Given the description of an element on the screen output the (x, y) to click on. 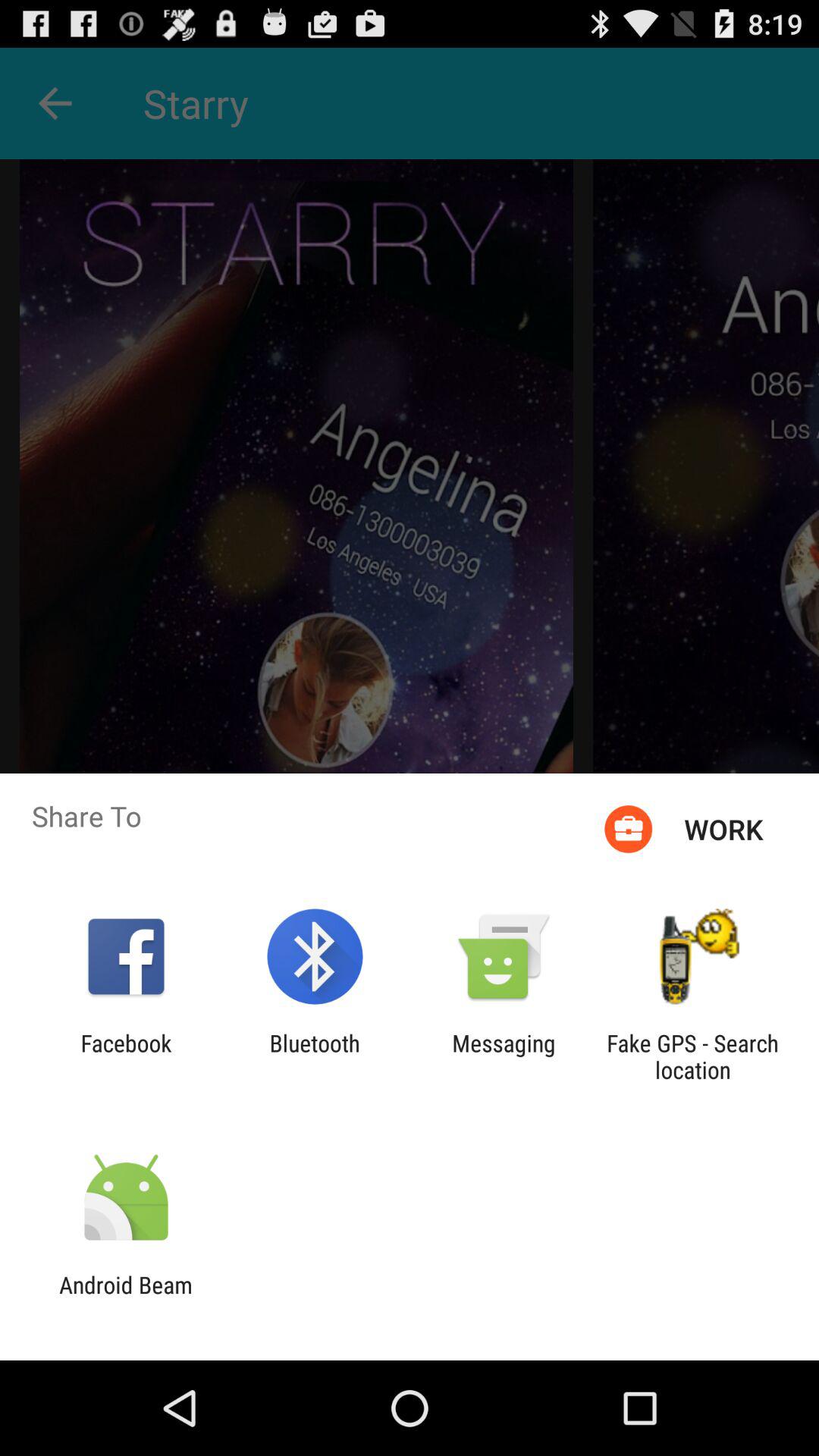
jump to fake gps search app (692, 1056)
